Given the description of an element on the screen output the (x, y) to click on. 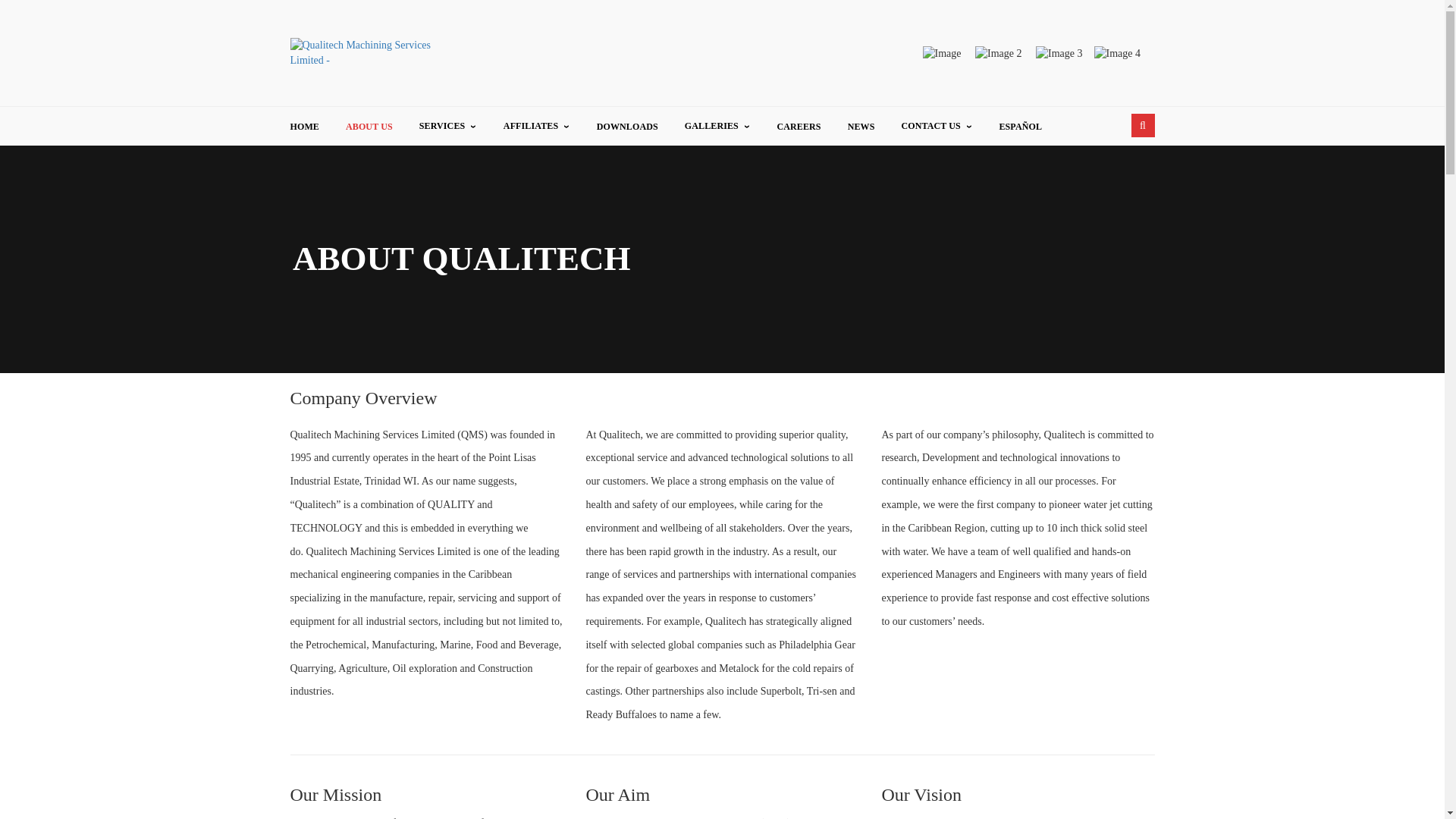
SERVICES (448, 126)
ABOUT US (369, 126)
GALLERIES (717, 126)
DOWNLOADS (627, 126)
CONTACT US (936, 126)
Qualitech Machining Services Limited -  (376, 51)
AFFILIATES (536, 126)
CAREERS (798, 126)
